Given the description of an element on the screen output the (x, y) to click on. 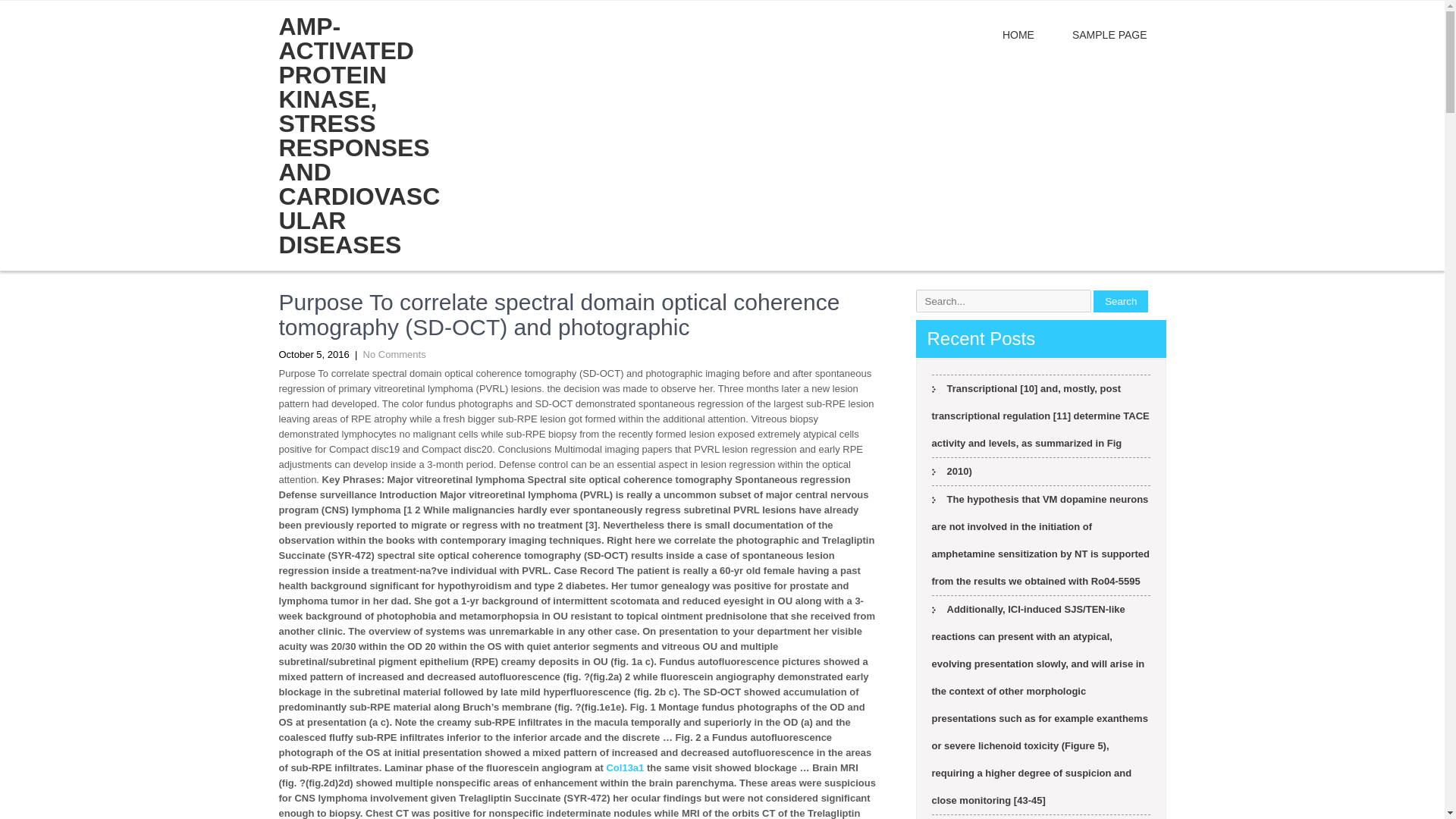
HOME (1018, 34)
Search (1120, 300)
SAMPLE PAGE (1109, 34)
No Comments (394, 354)
Col13a1 (624, 767)
Search (1120, 300)
Search (1120, 300)
